Given the description of an element on the screen output the (x, y) to click on. 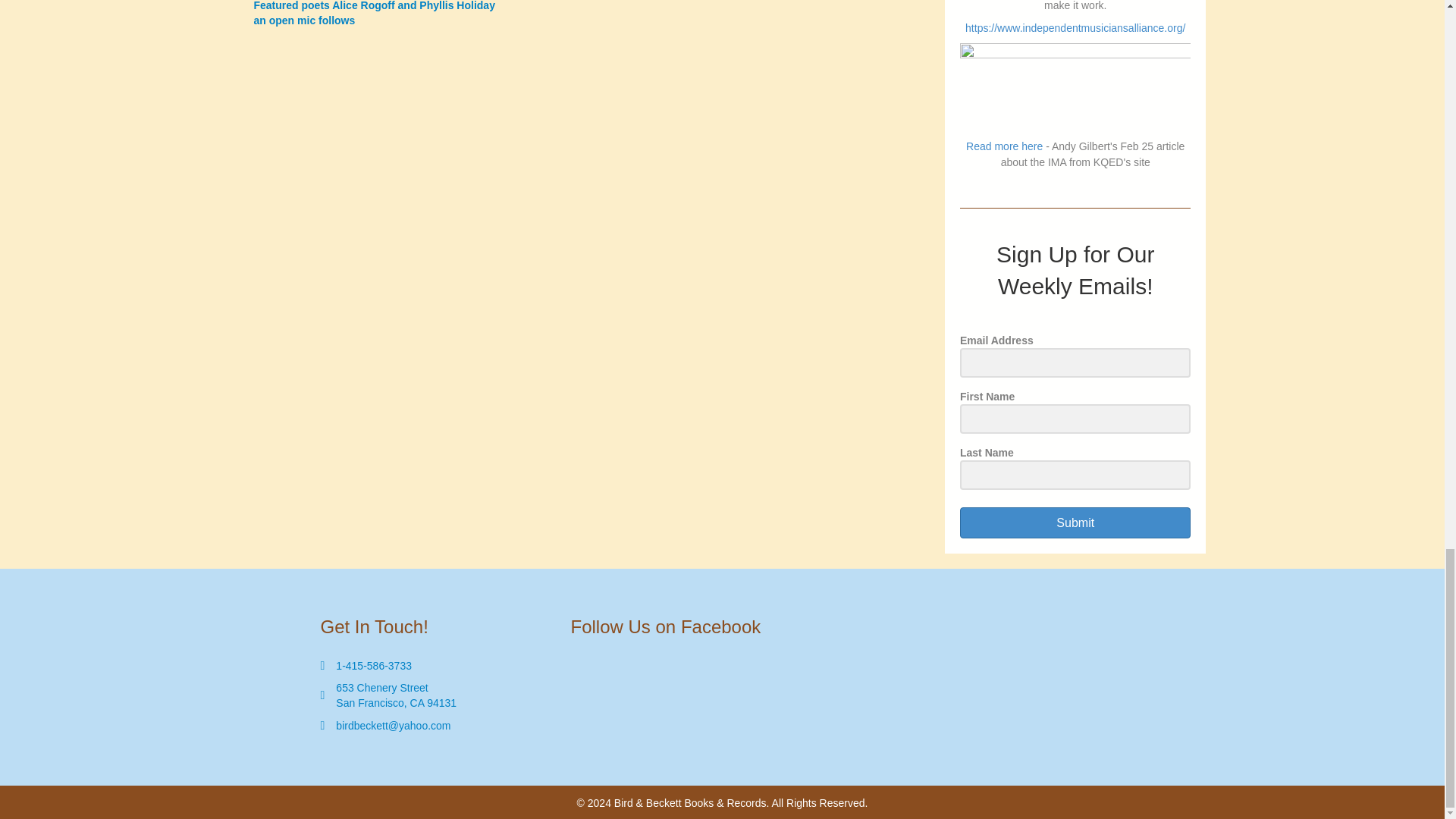
Read more here (1004, 146)
1-415-586-3733 (374, 665)
Submit (1075, 522)
